Given the description of an element on the screen output the (x, y) to click on. 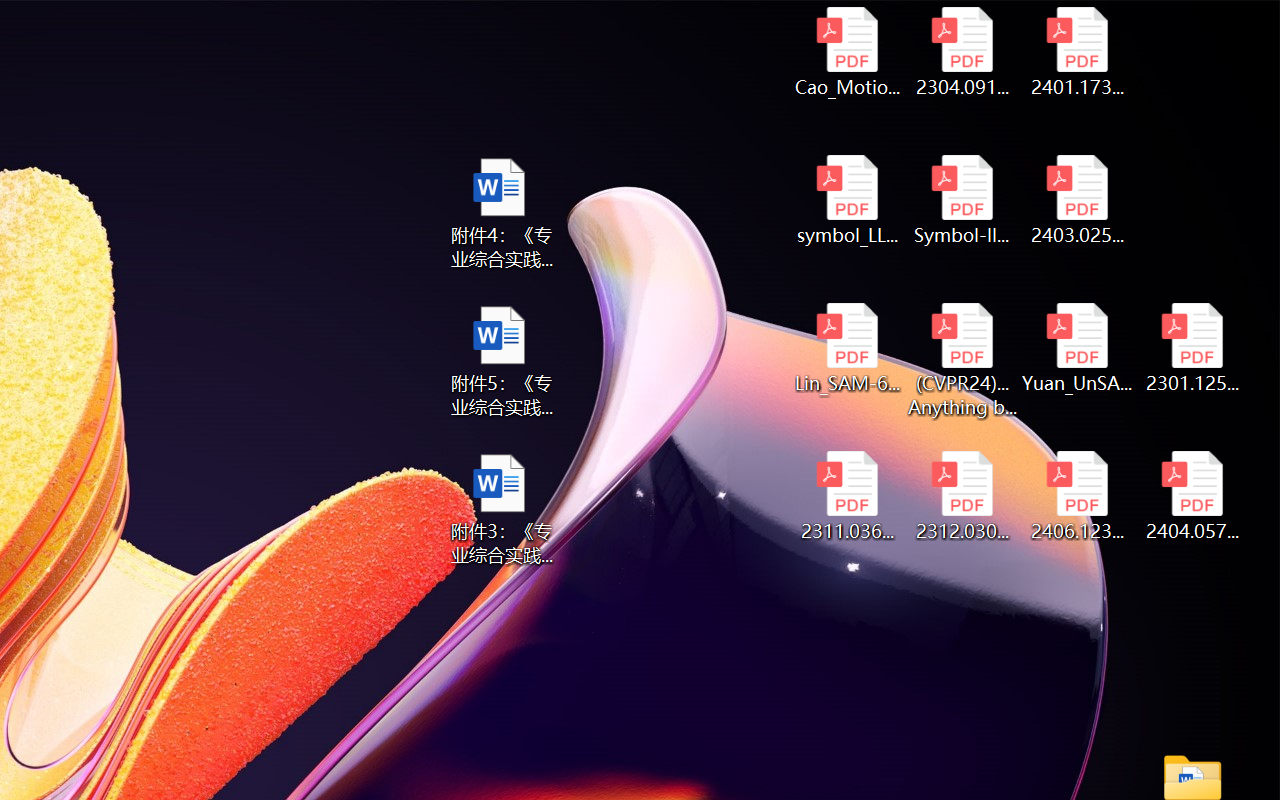
2301.12597v3.pdf (1192, 348)
